Given the description of an element on the screen output the (x, y) to click on. 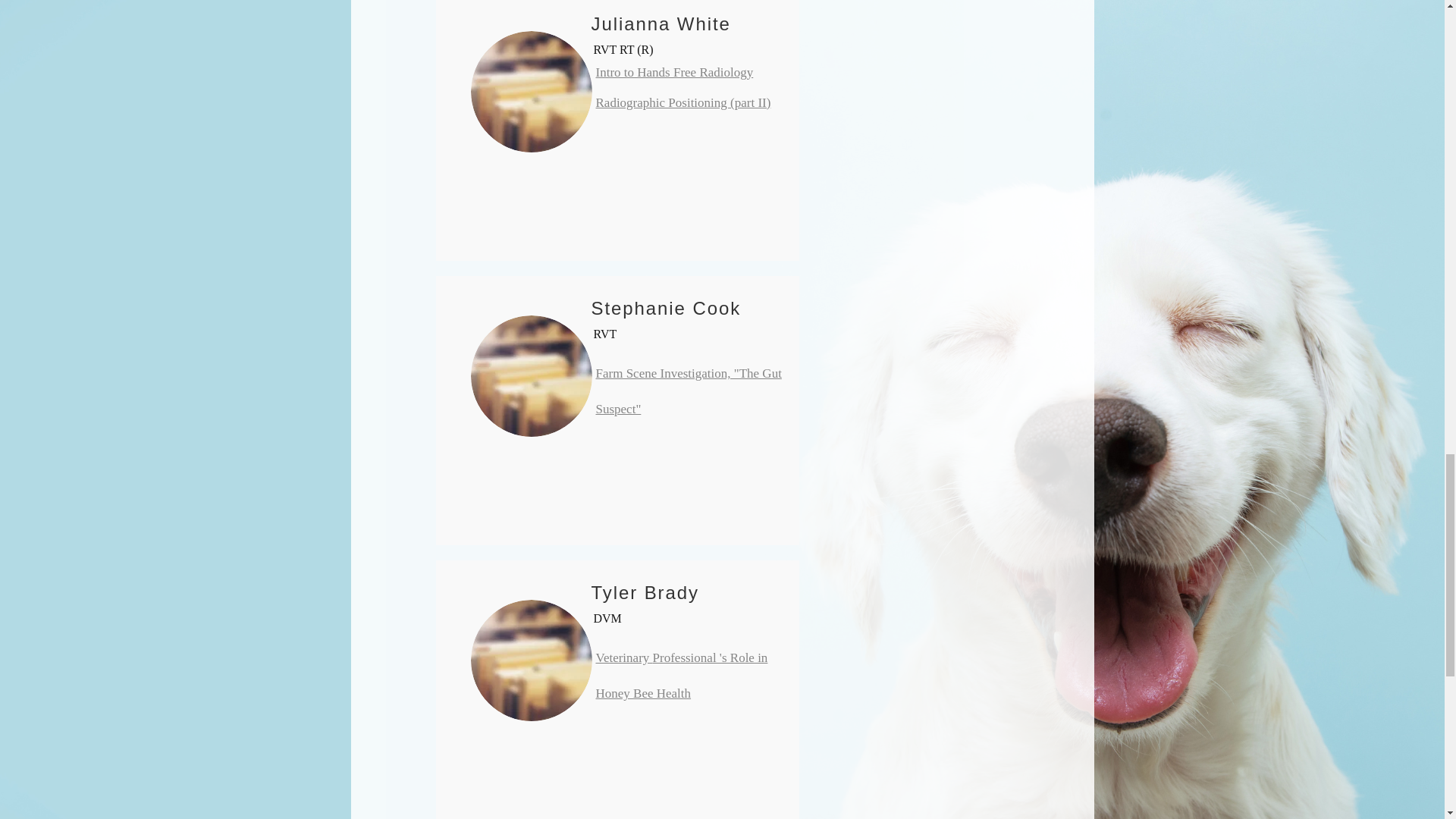
Intro to Hands Free Radiology (674, 72)
